Given the description of an element on the screen output the (x, y) to click on. 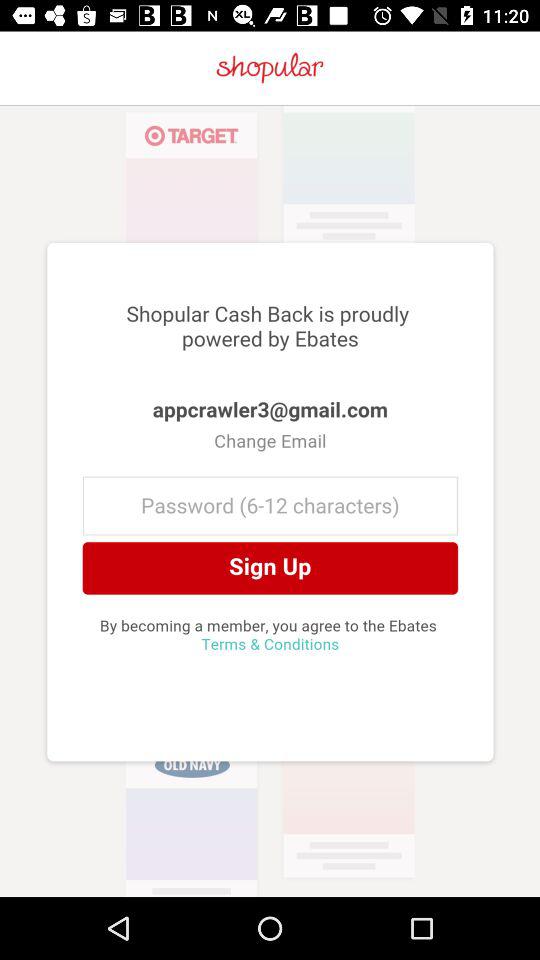
create an account (270, 501)
